Given the description of an element on the screen output the (x, y) to click on. 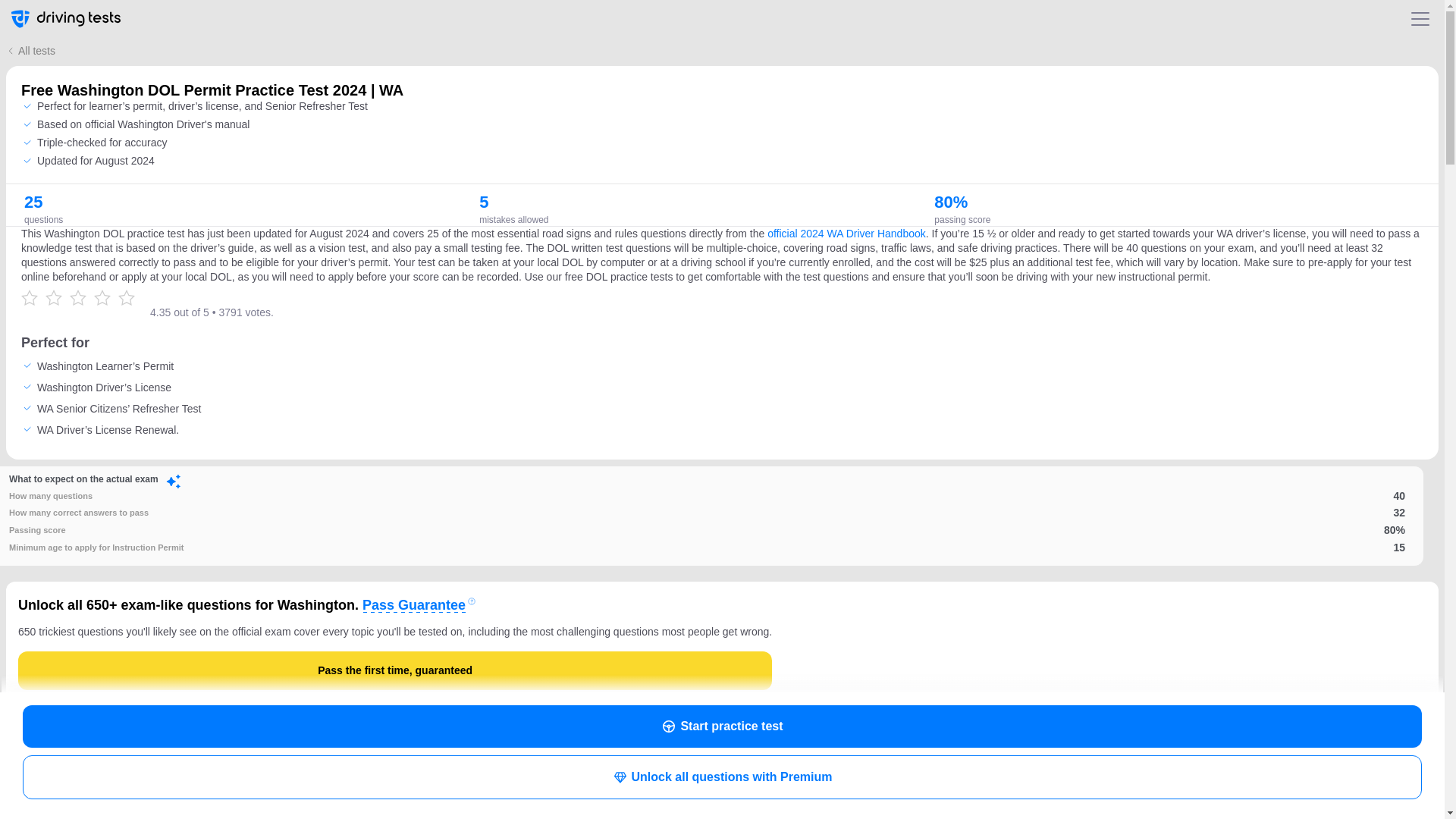
official 2024 WA Driver Handbook (846, 233)
Unlock all questions with Premium (722, 777)
Start practice test (722, 726)
Pass the first time, guaranteed (394, 670)
